Given the description of an element on the screen output the (x, y) to click on. 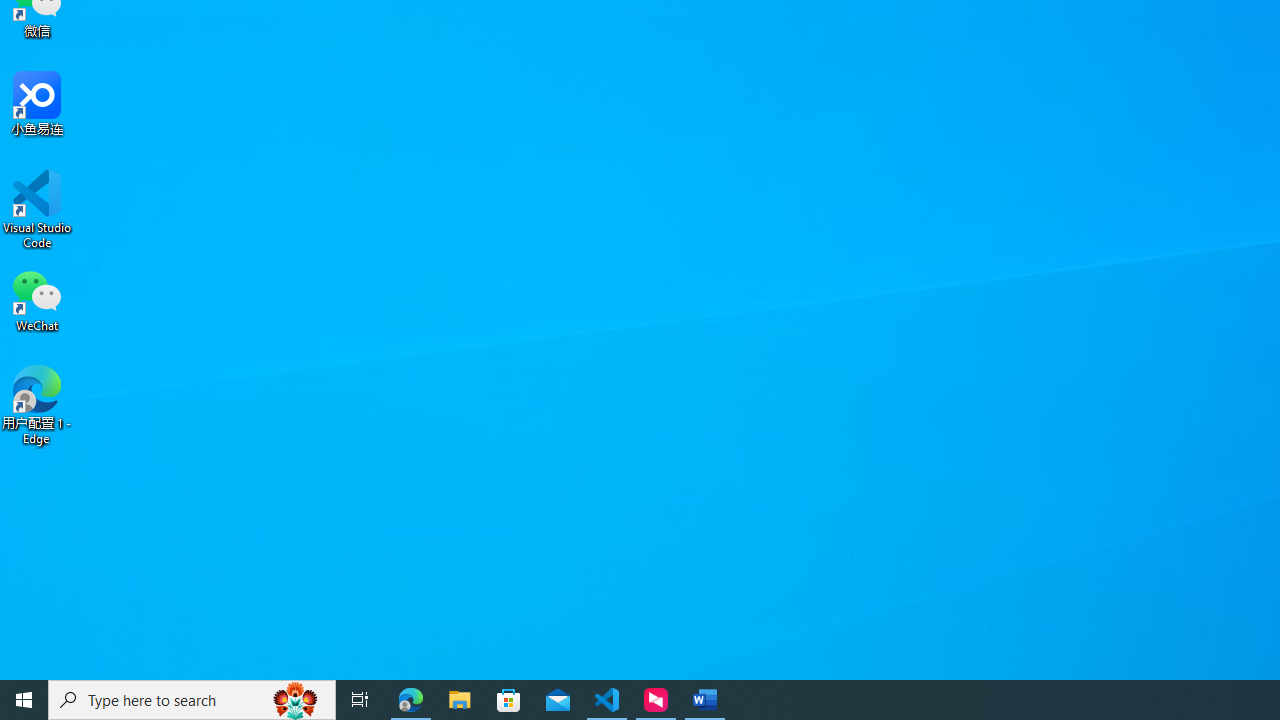
Visual Studio Code - 1 running window (607, 699)
Search highlights icon opens search home window (295, 699)
Type here to search (191, 699)
Word - 1 running window (704, 699)
Microsoft Edge - 1 running window (411, 699)
Accessibility Checker Accessibility: Good to go (382, 668)
Start (24, 699)
File Explorer (460, 699)
Page Number Page 1 of 1 (39, 668)
Microsoft Store (509, 699)
Task View (359, 699)
Spelling and Grammar Check No Errors (150, 668)
